Given the description of an element on the screen output the (x, y) to click on. 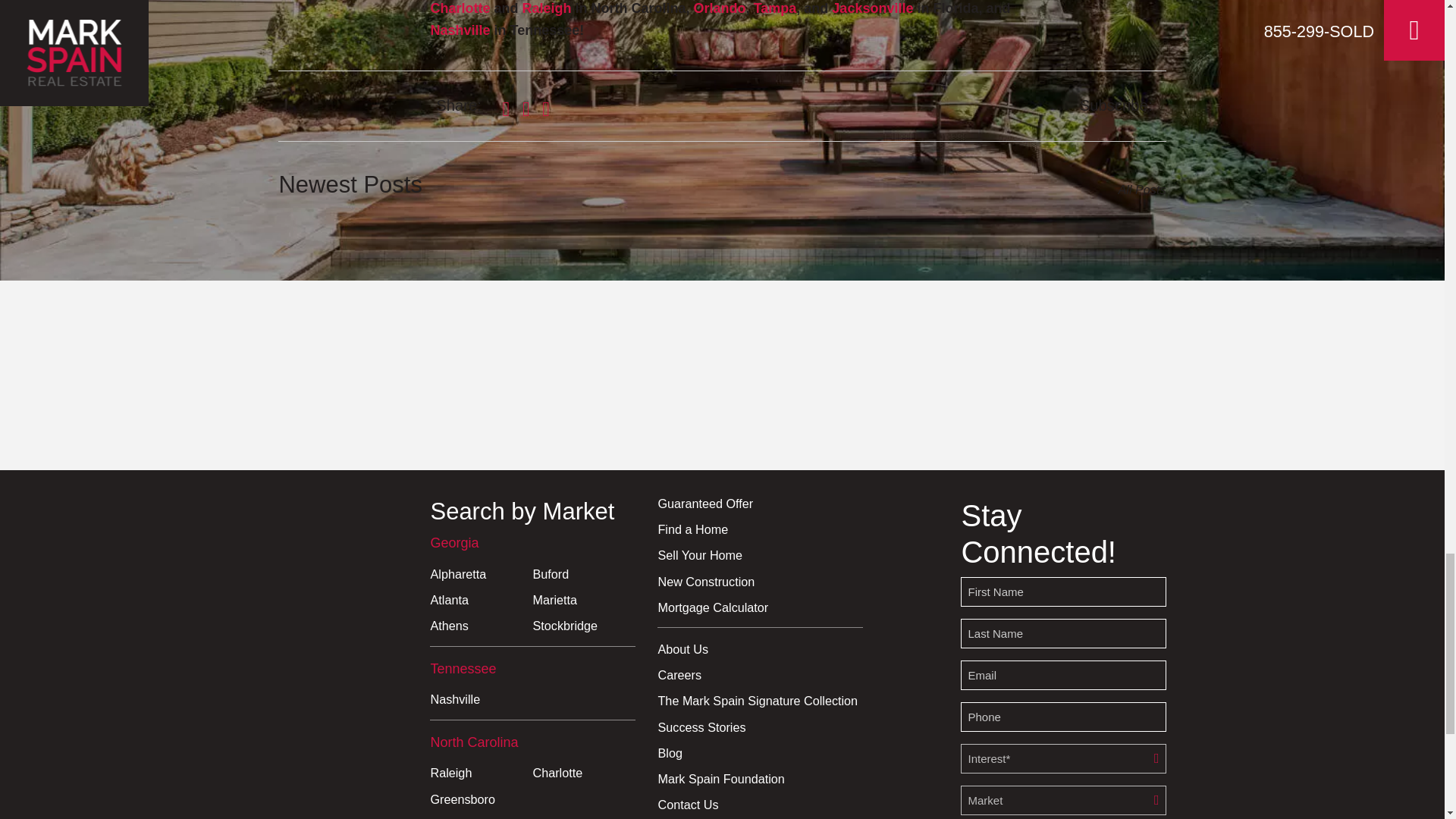
Orlando (717, 7)
Raleigh (545, 7)
Charlotte (459, 7)
Jacksonville (870, 7)
Nashville (459, 29)
All Posts (949, 189)
Tampa (772, 7)
